Given the description of an element on the screen output the (x, y) to click on. 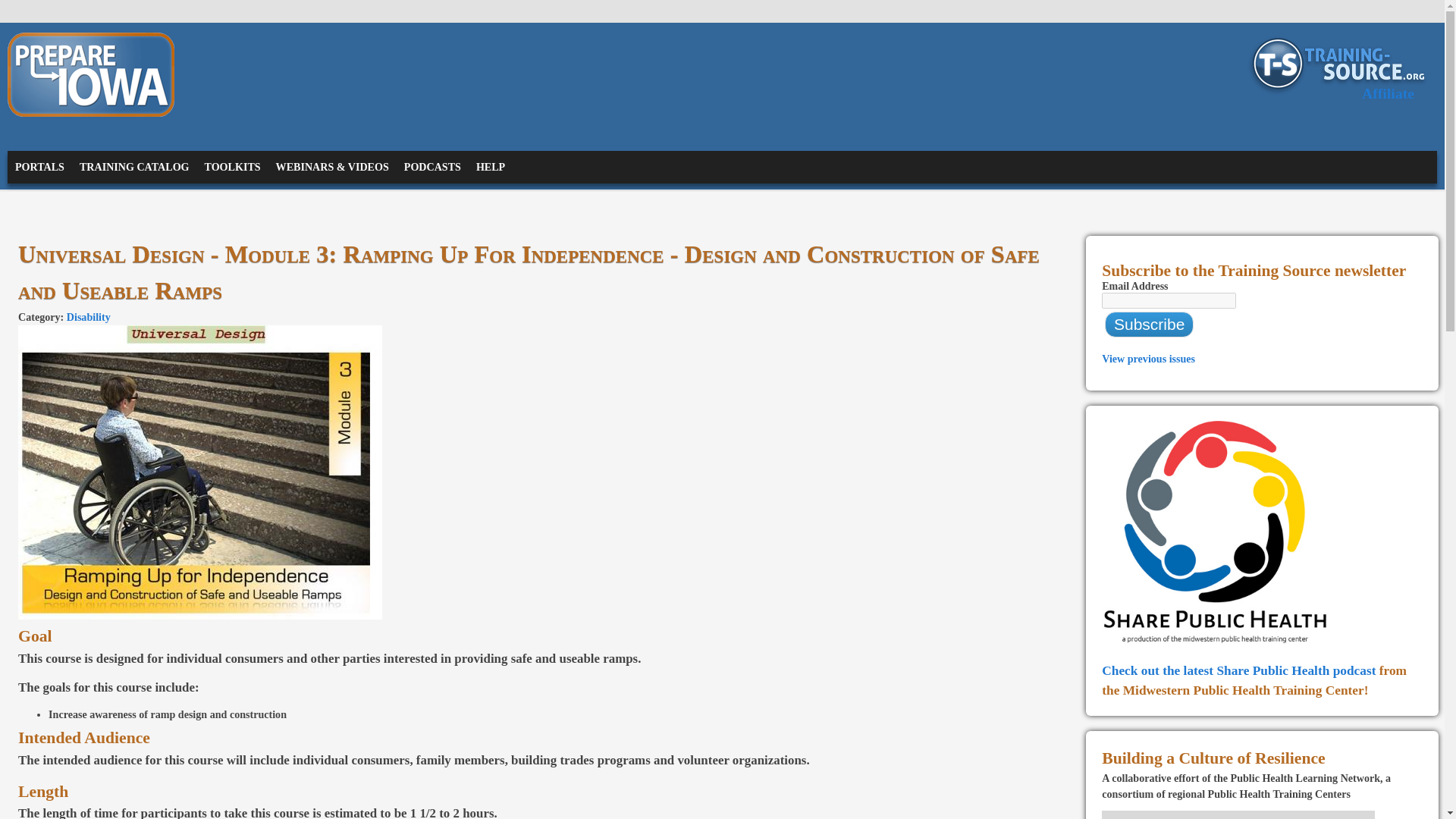
Subscribe (1148, 324)
Home page (90, 112)
Home page (81, 61)
View previous issues (1148, 358)
TRAINING CATALOG (133, 166)
View Courses Offered (231, 166)
View previous issues (1148, 358)
PREPARE IOWA (81, 61)
Subscribe (1148, 324)
TOOLKITS (231, 166)
Disability (88, 316)
Affiliate (1387, 93)
HELP (490, 166)
Check out the latest Share Public Health podcast (1238, 670)
